Given the description of an element on the screen output the (x, y) to click on. 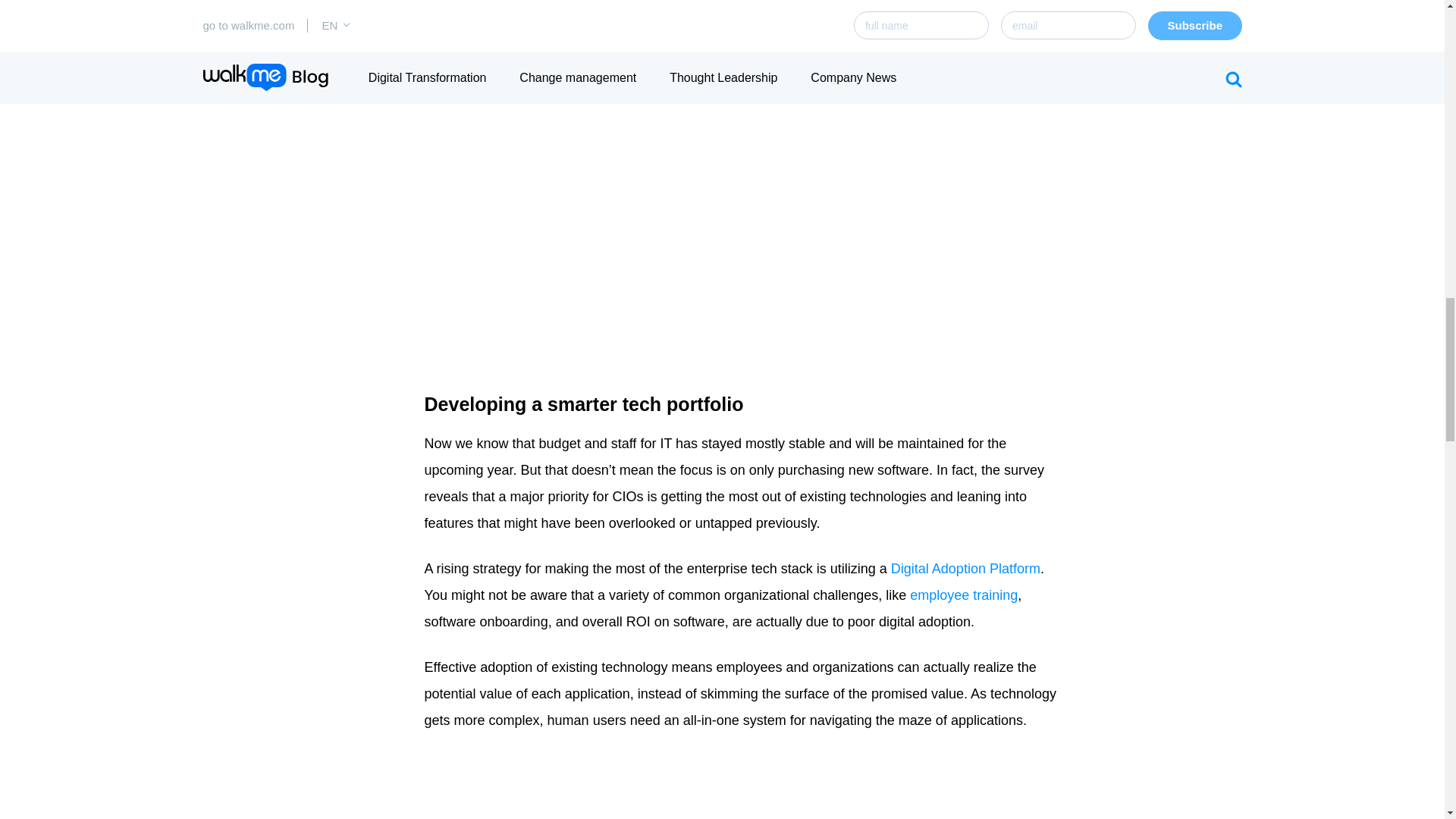
employee training (963, 595)
Embedded post (540, 785)
Digital Adoption Platform (966, 568)
